Given the description of an element on the screen output the (x, y) to click on. 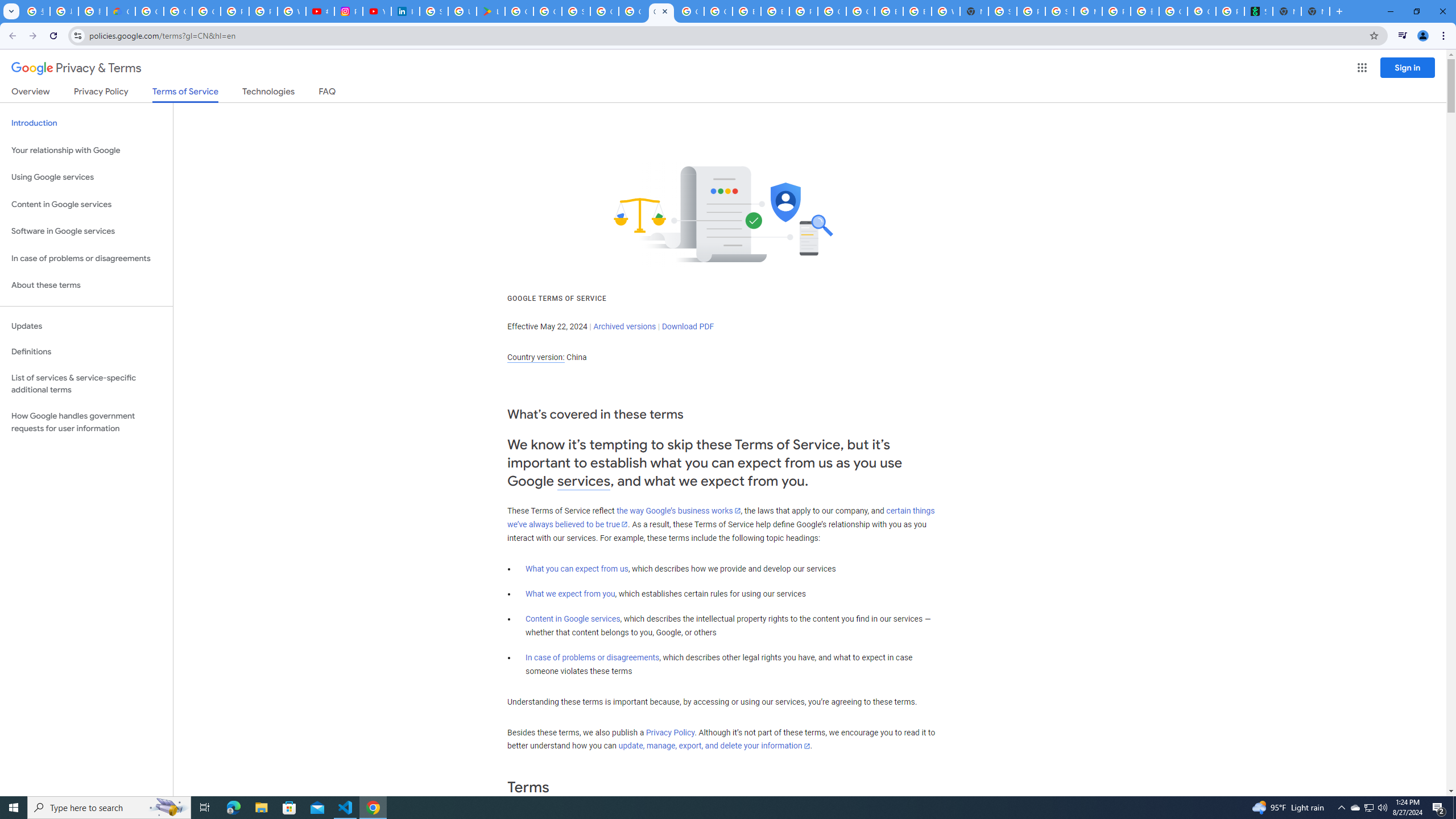
YouTube Culture & Trends - On The Rise: Handcam Videos (377, 11)
List of services & service-specific additional terms (86, 383)
Your relationship with Google (86, 150)
Archived versions (624, 326)
Definitions (86, 352)
Introduction (86, 122)
